Given the description of an element on the screen output the (x, y) to click on. 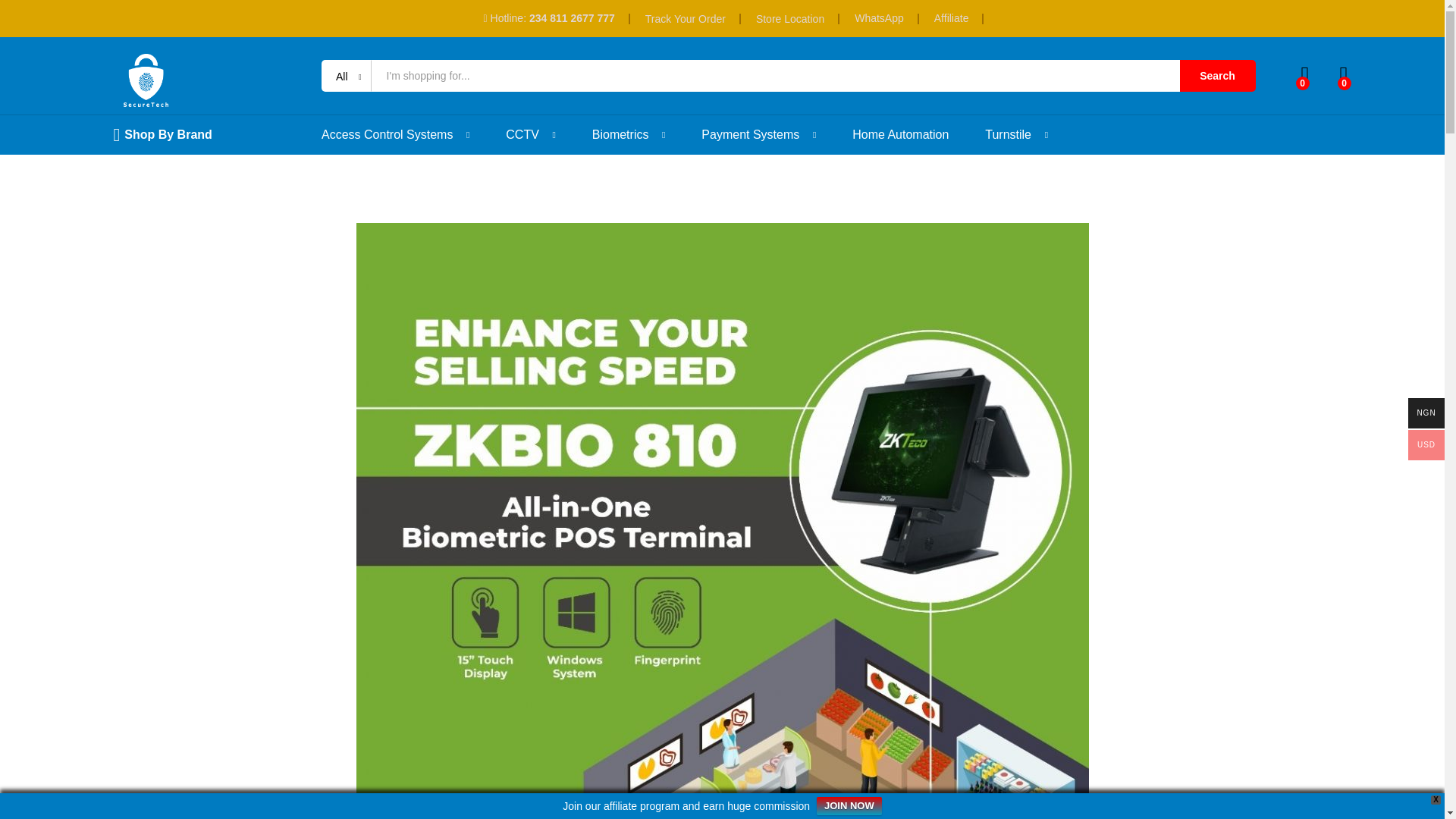
WhatsApp (879, 18)
Affiliate (951, 18)
Track Your Order (685, 18)
234 811 2677 777 (571, 18)
Store Location (789, 18)
